Given the description of an element on the screen output the (x, y) to click on. 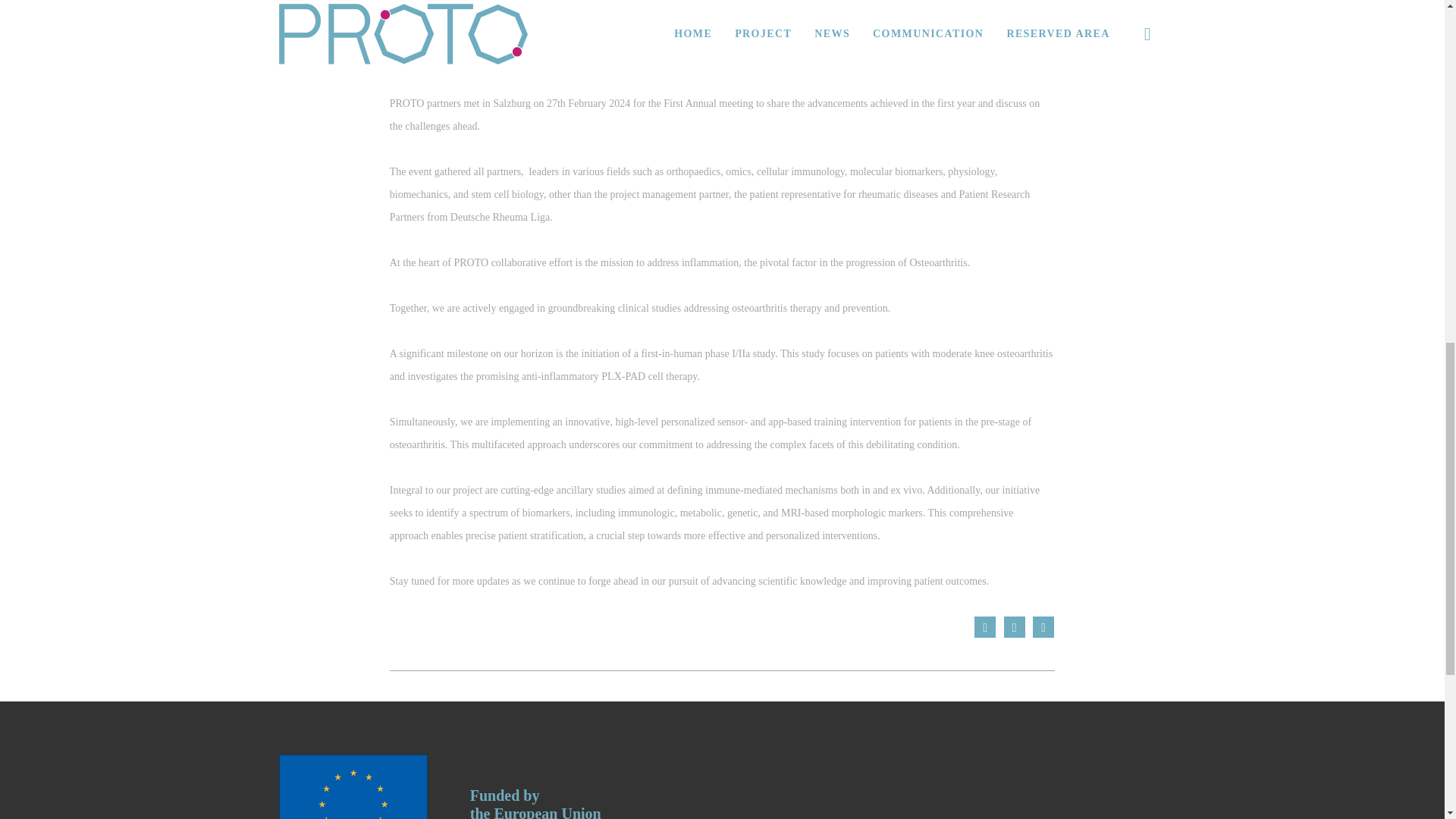
First Annual meeting (1043, 626)
First Annual meeting (984, 626)
First Annual meeting (1014, 626)
